Given the description of an element on the screen output the (x, y) to click on. 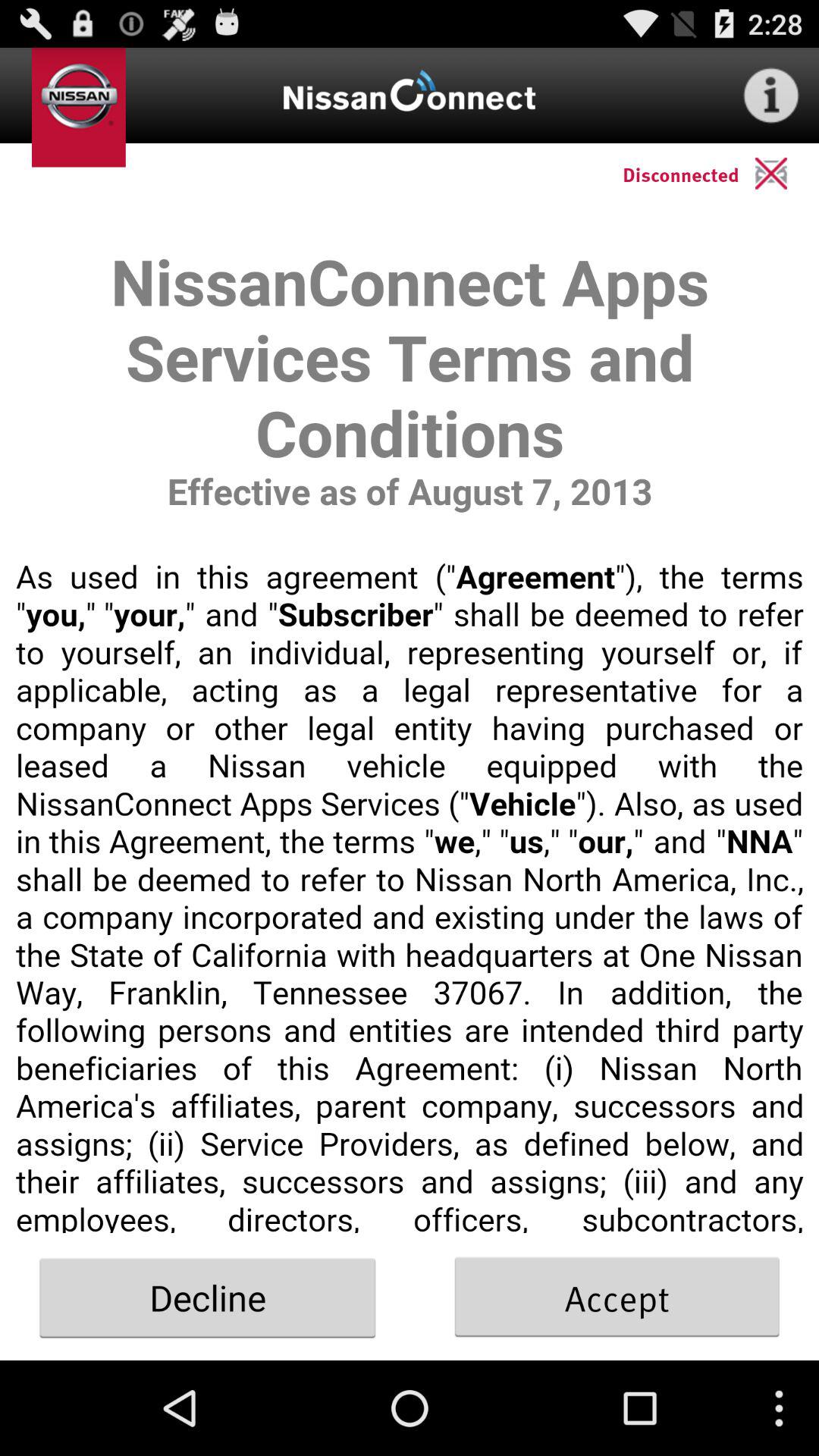
select article (409, 718)
